Given the description of an element on the screen output the (x, y) to click on. 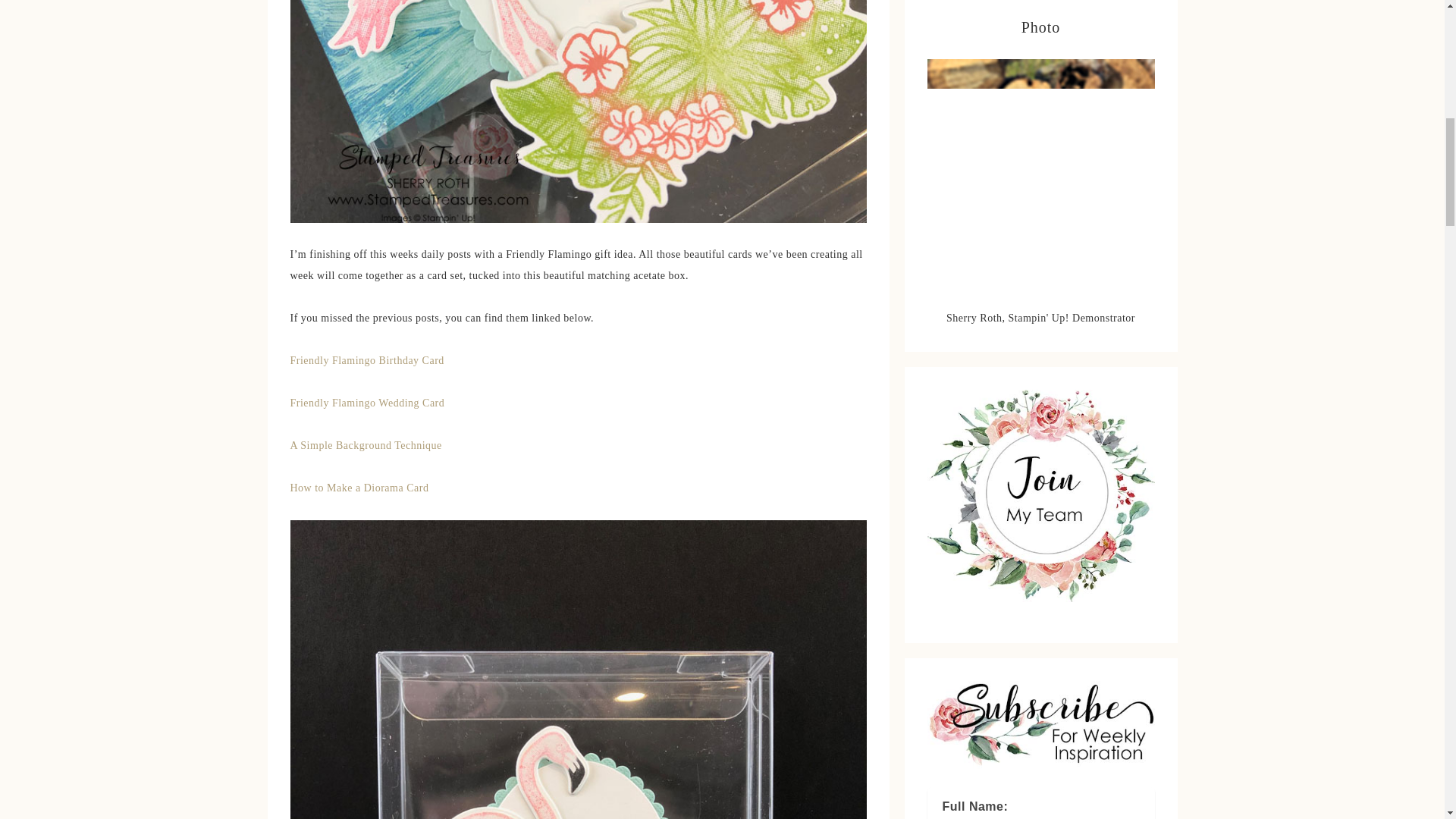
A Simple Background Technique (365, 445)
Friendly Flamingo Gift Idea  (577, 111)
Friendly Flamingo Birthday Card (366, 360)
Friendly Flamingo Wedding Card (366, 402)
How to Make a Diorama Card (358, 487)
